Given the description of an element on the screen output the (x, y) to click on. 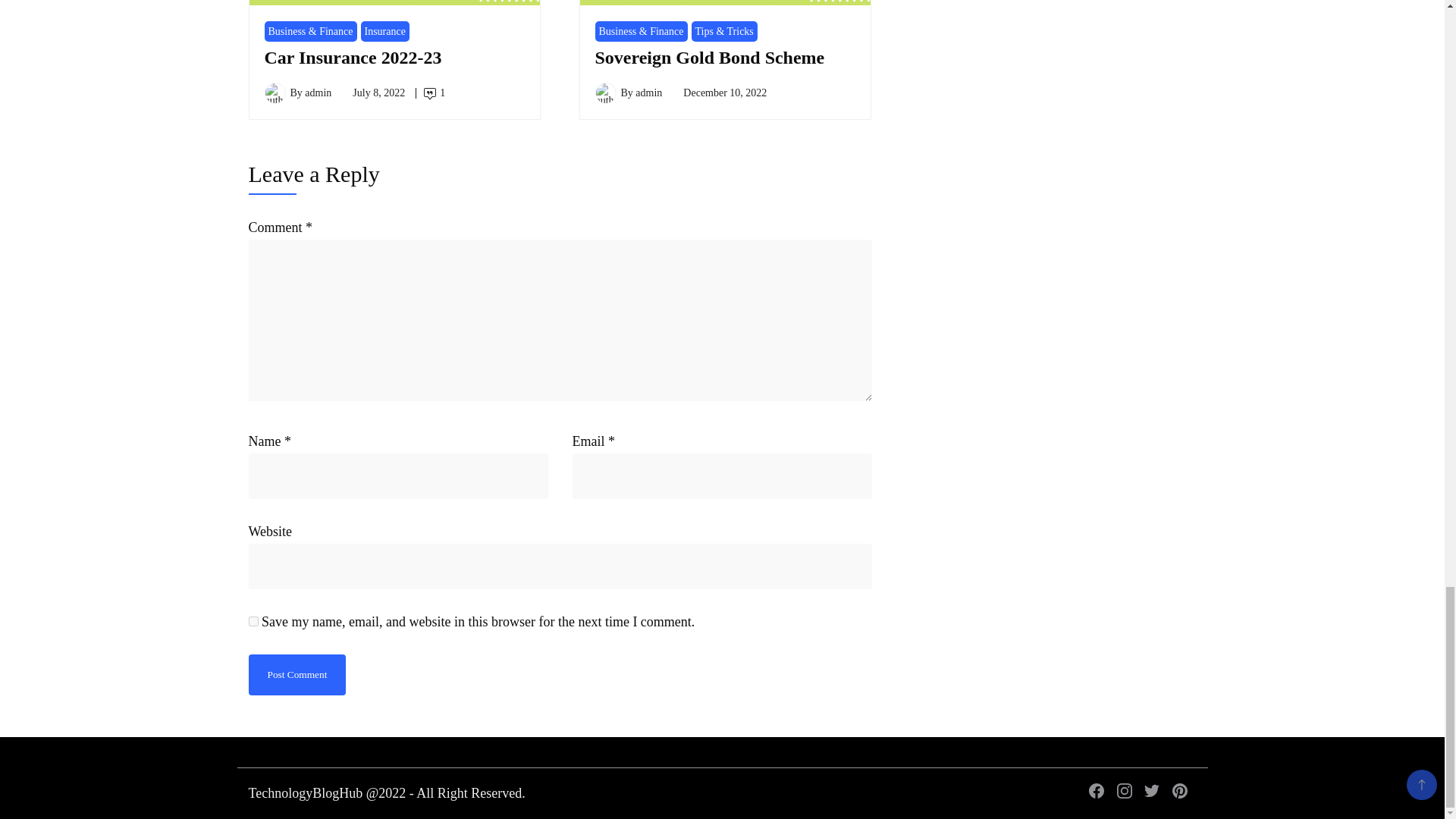
Insurance (385, 31)
yes (253, 621)
Car Insurance 2022-23 (352, 57)
Post Comment (297, 674)
admin (317, 92)
